Given the description of an element on the screen output the (x, y) to click on. 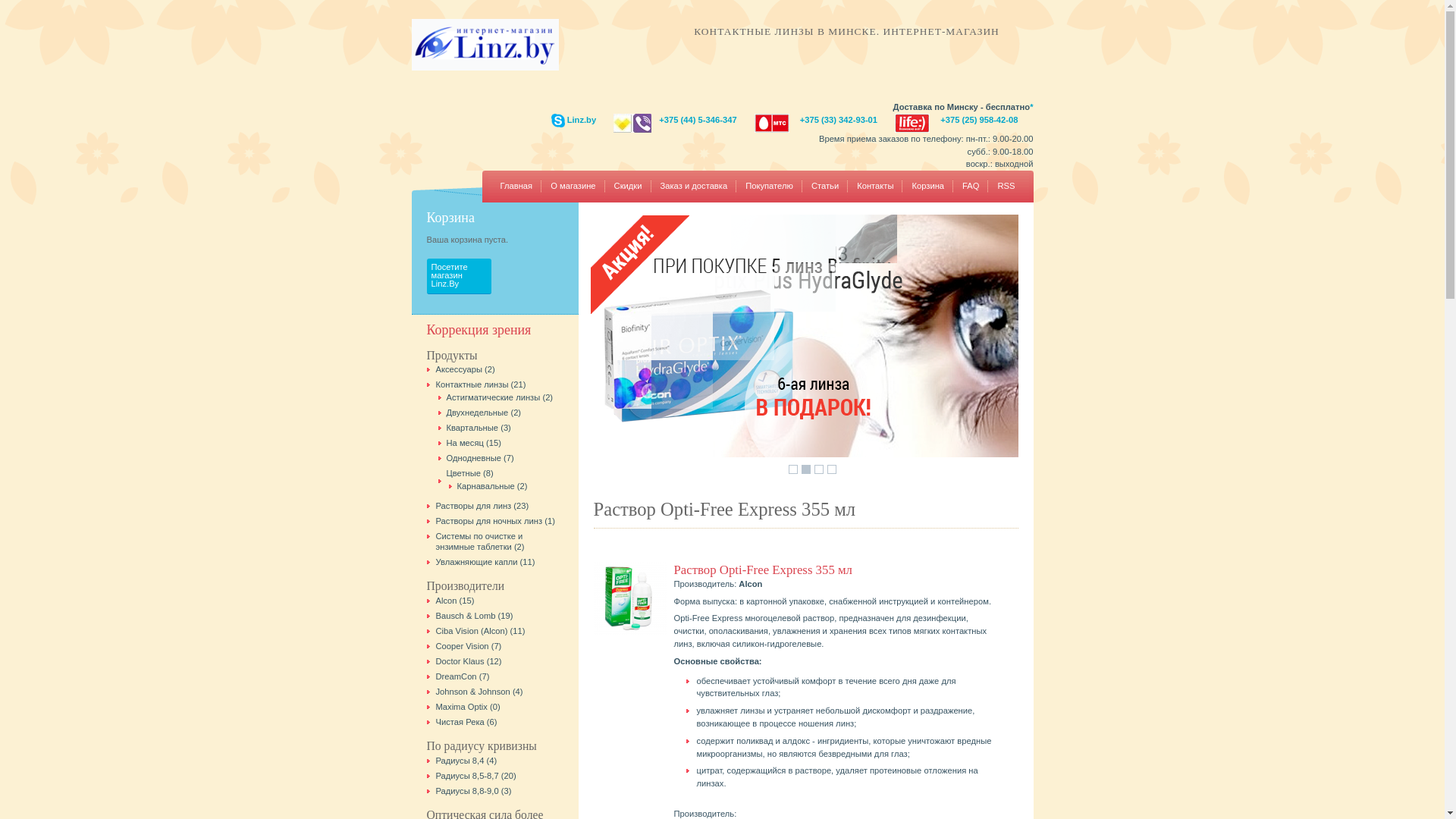
Bausch & Lomb (19) Element type: text (473, 615)
DreamCon (7) Element type: text (462, 675)
RSS Element type: text (1005, 185)
2 Element type: text (805, 468)
Alcon (15) Element type: text (454, 600)
life1 Element type: hover (911, 122)
Linz.by Element type: text (581, 119)
Johnson & Johnson (4) Element type: text (478, 691)
Doctor Klaus (12) Element type: text (468, 660)
* Element type: text (1030, 106)
a1/viber Element type: hover (632, 122)
mts Element type: hover (771, 122)
+375 (25) 958-42-08 Element type: text (978, 119)
Maxima Optix (0) Element type: text (467, 706)
Cooper Vision (7) Element type: text (468, 645)
FAQ Element type: text (970, 185)
+375 (44) 5-346-347 Element type: text (697, 119)
Ciba Vision (Alcon) (11) Element type: text (479, 630)
1 Element type: text (792, 468)
4 Element type: text (831, 468)
3 Element type: text (818, 468)
Go to homepage Element type: hover (484, 67)
+375 (33) 342-93-01 Element type: text (838, 119)
